Given the description of an element on the screen output the (x, y) to click on. 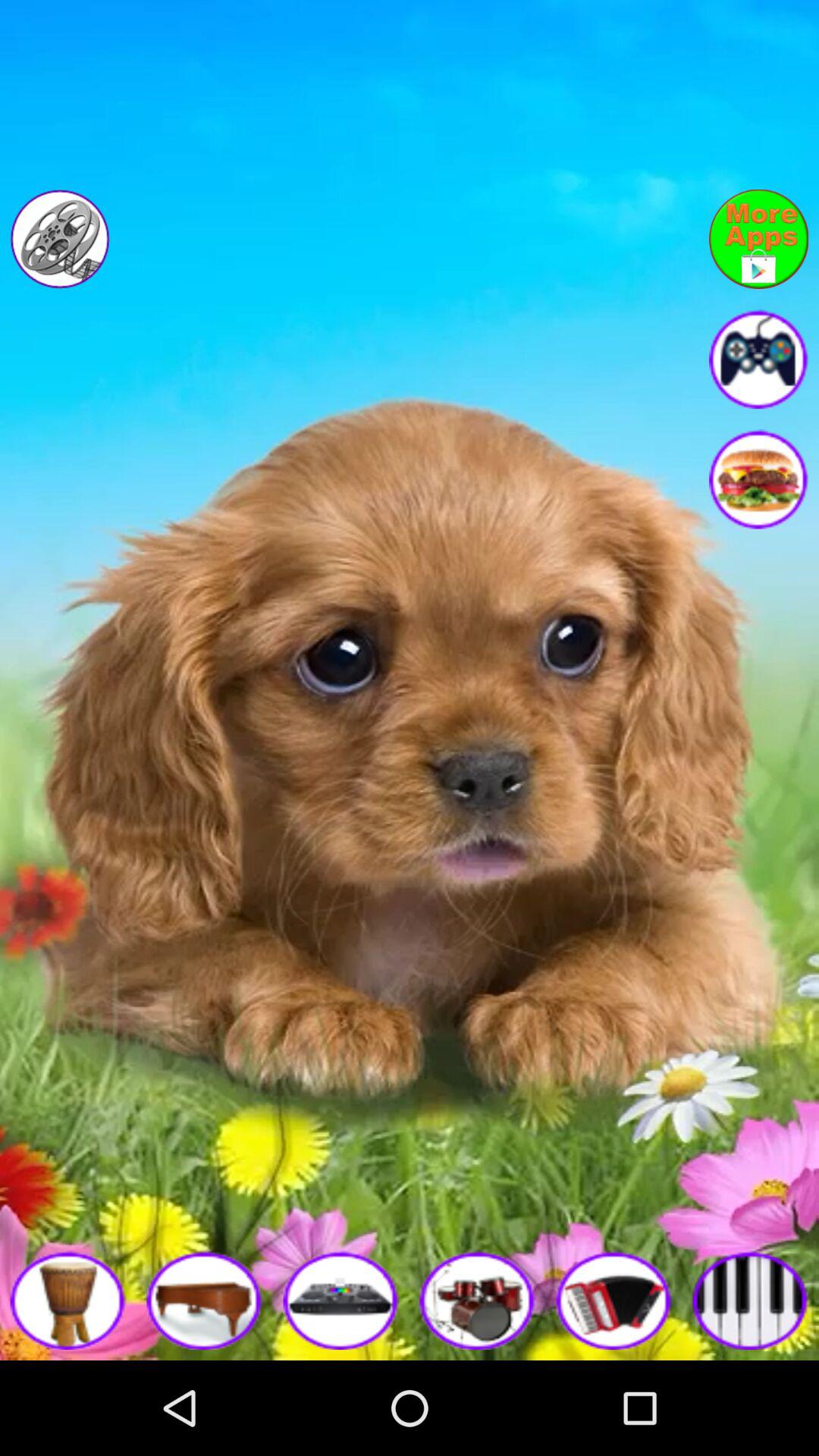
play the music (204, 1300)
